Given the description of an element on the screen output the (x, y) to click on. 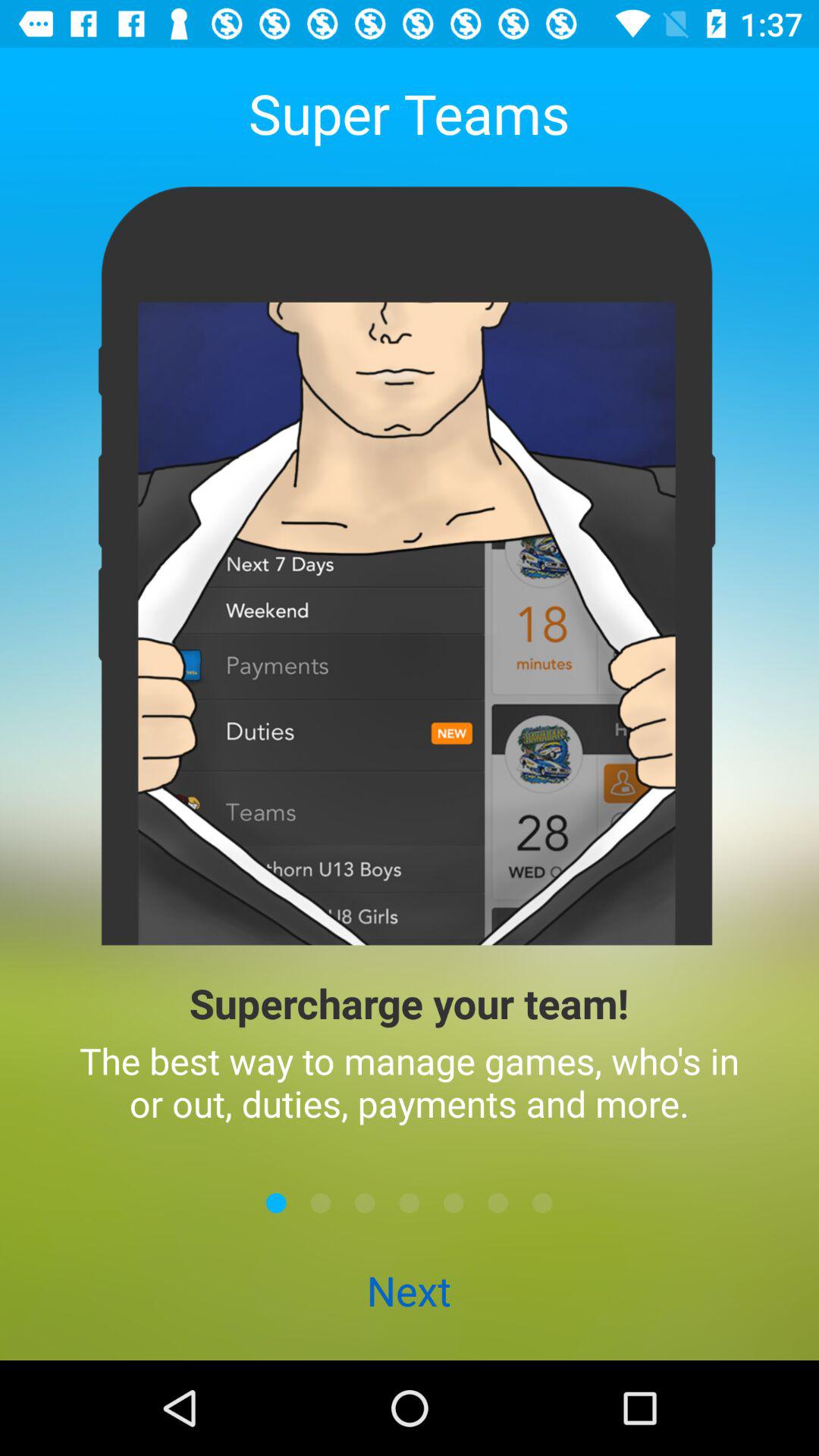
click icon above next item (542, 1203)
